Given the description of an element on the screen output the (x, y) to click on. 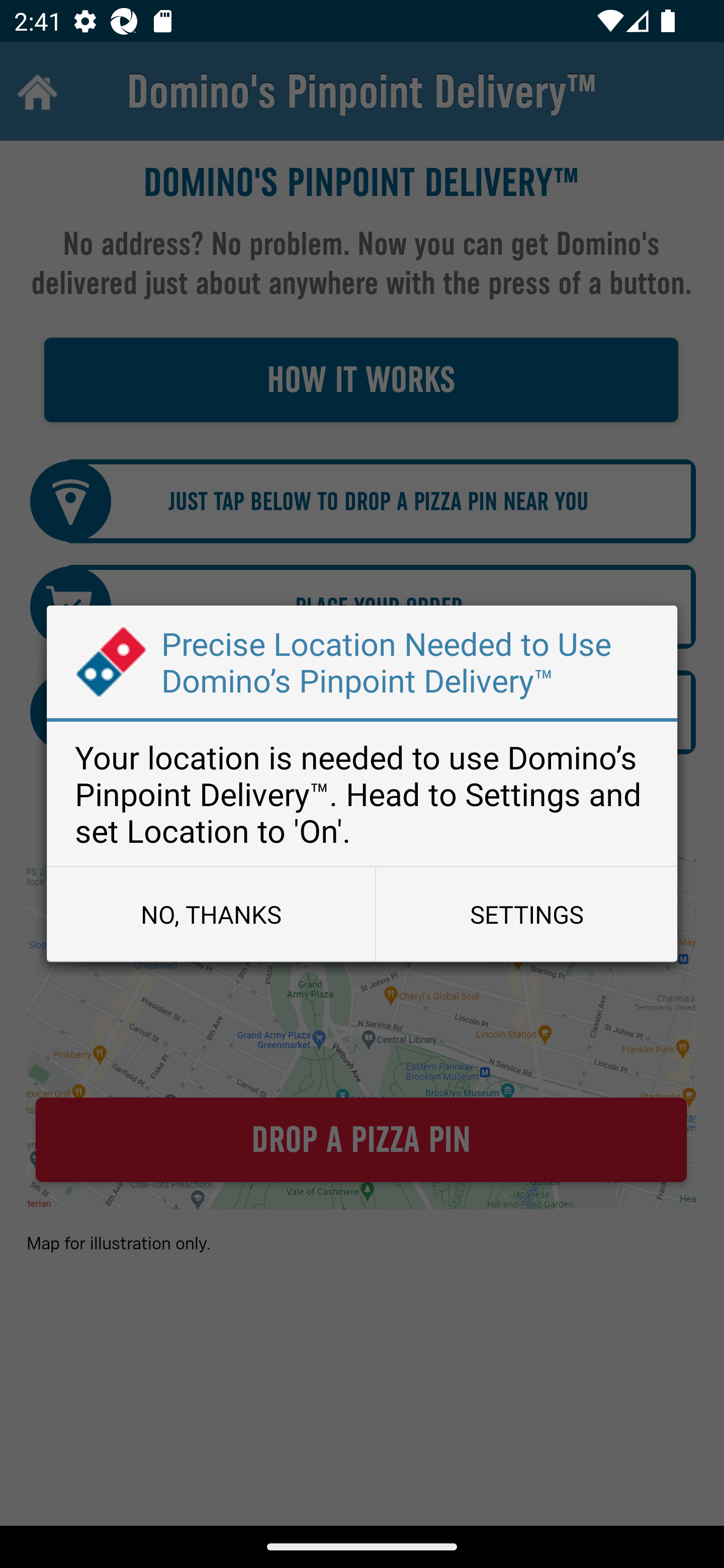
NO, THANKS (211, 914)
SETTINGS (525, 914)
